Given the description of an element on the screen output the (x, y) to click on. 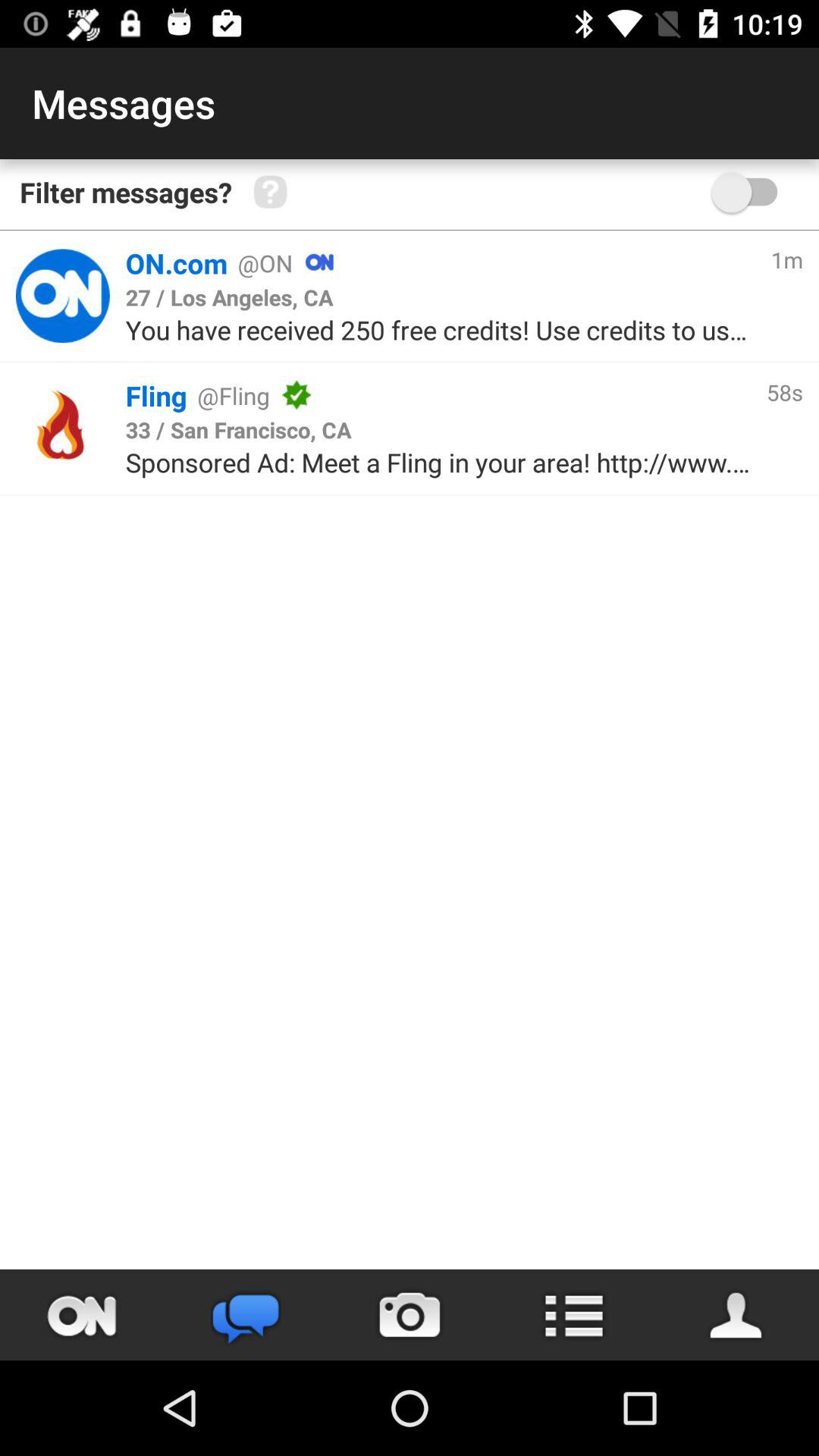
click icon above fling item (440, 329)
